Given the description of an element on the screen output the (x, y) to click on. 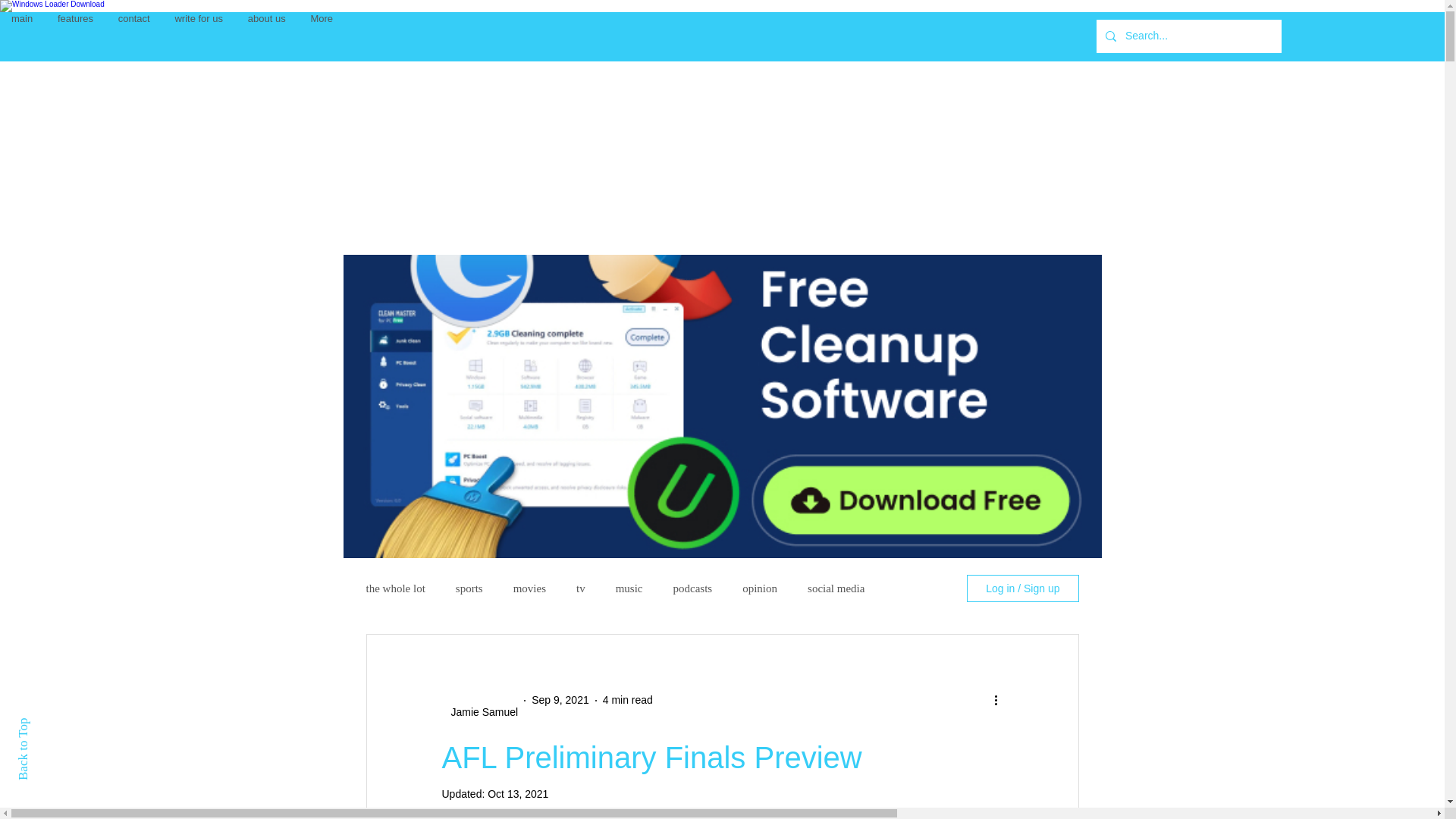
movies (529, 588)
features (75, 18)
the whole lot (395, 588)
write for us (198, 18)
Jamie Samuel (479, 712)
about us (266, 18)
contact (133, 18)
social media (836, 588)
podcasts (692, 588)
sports (469, 588)
main (21, 18)
music (629, 588)
opinion (759, 588)
